Given the description of an element on the screen output the (x, y) to click on. 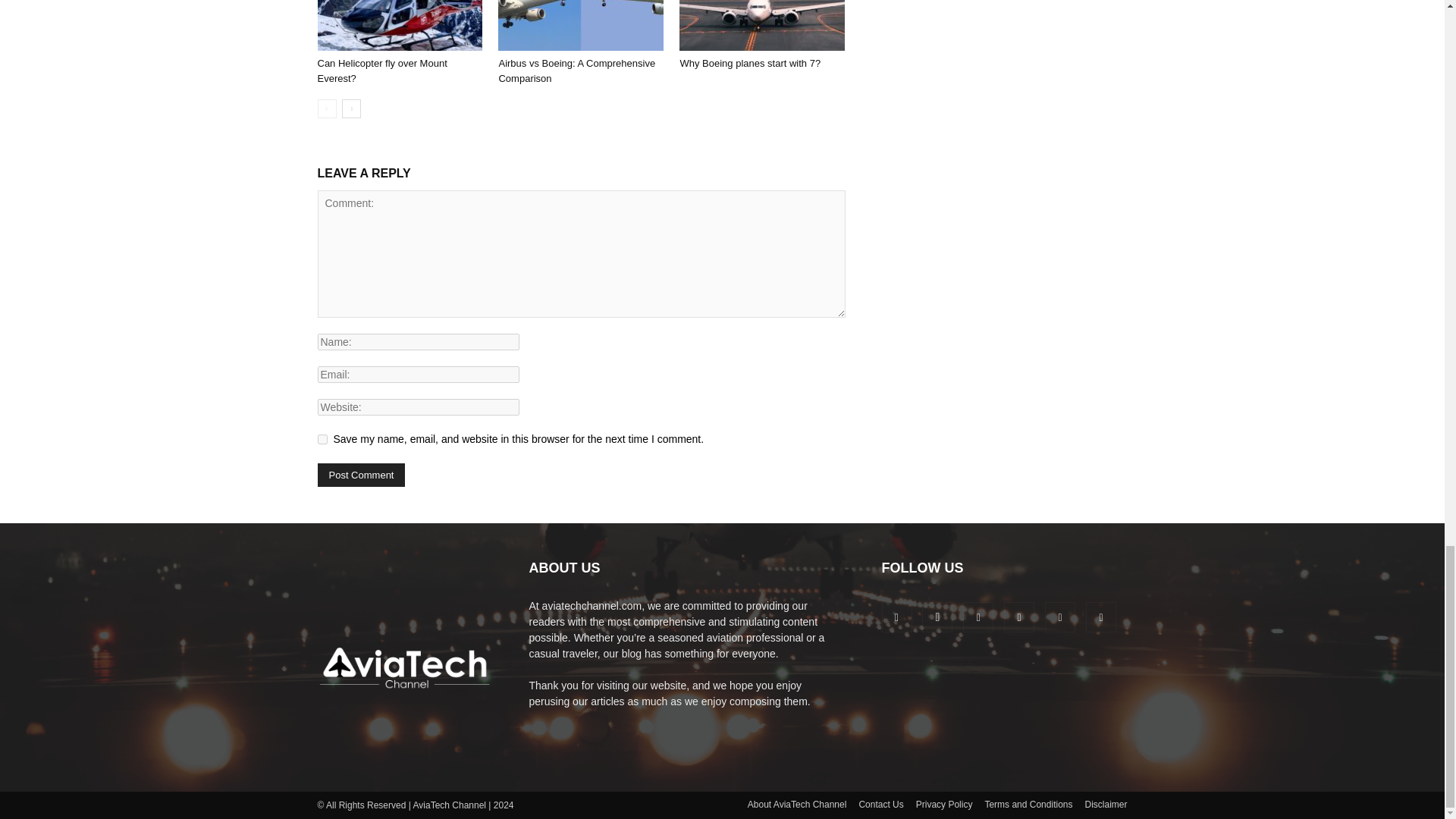
Post Comment (360, 474)
yes (321, 439)
